Given the description of an element on the screen output the (x, y) to click on. 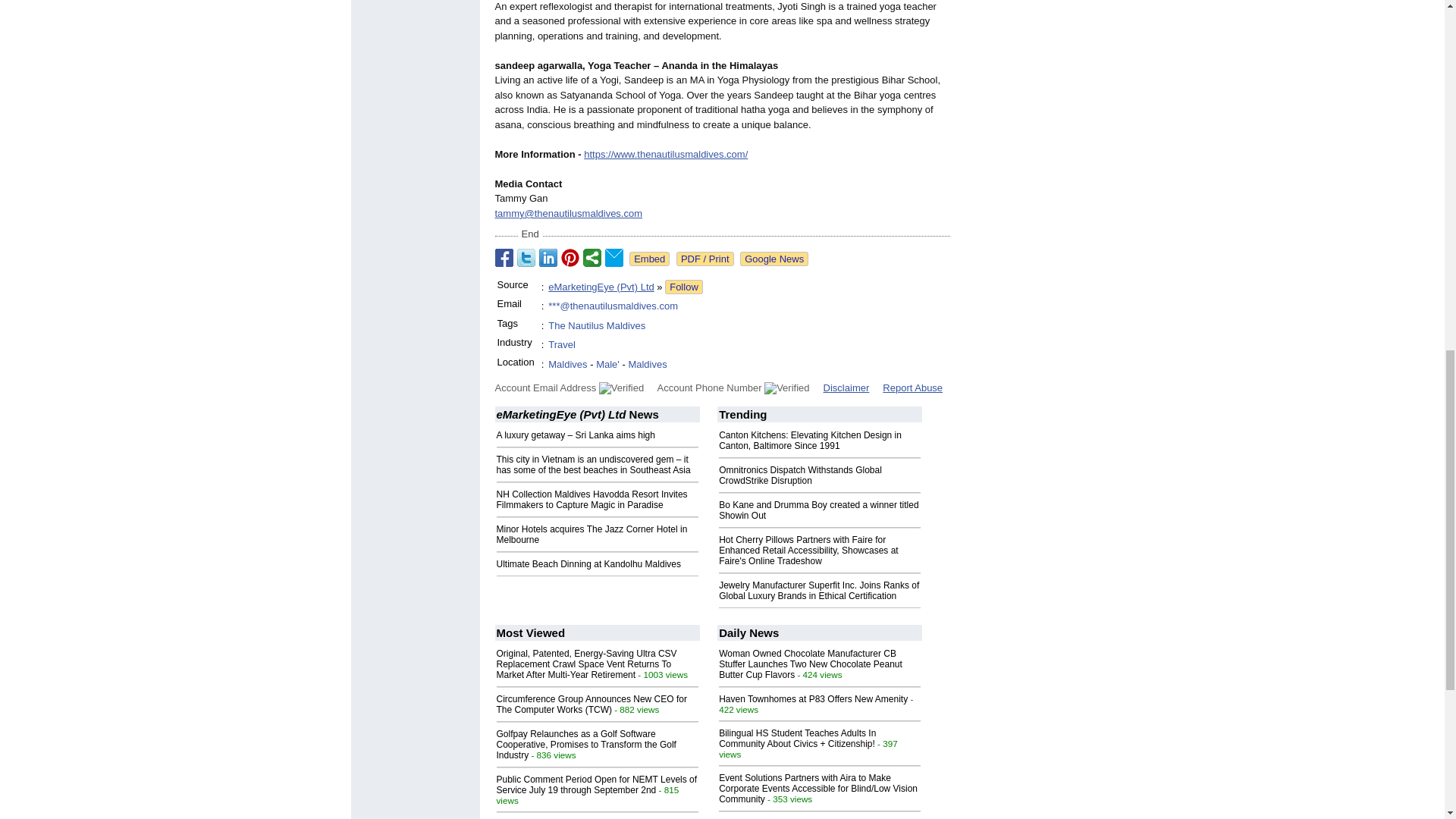
Share on LinkedIn (547, 257)
Verified (620, 387)
Share on Facebook (503, 257)
Share on Twitter (525, 257)
See or print the PDF version! (705, 258)
Share on StumbleUpon, Digg, etc (590, 257)
Embed (648, 258)
Email to a Friend (614, 257)
Share on Pinterest (569, 257)
Verified (786, 387)
Embed this press release in your website! (648, 258)
